Given the description of an element on the screen output the (x, y) to click on. 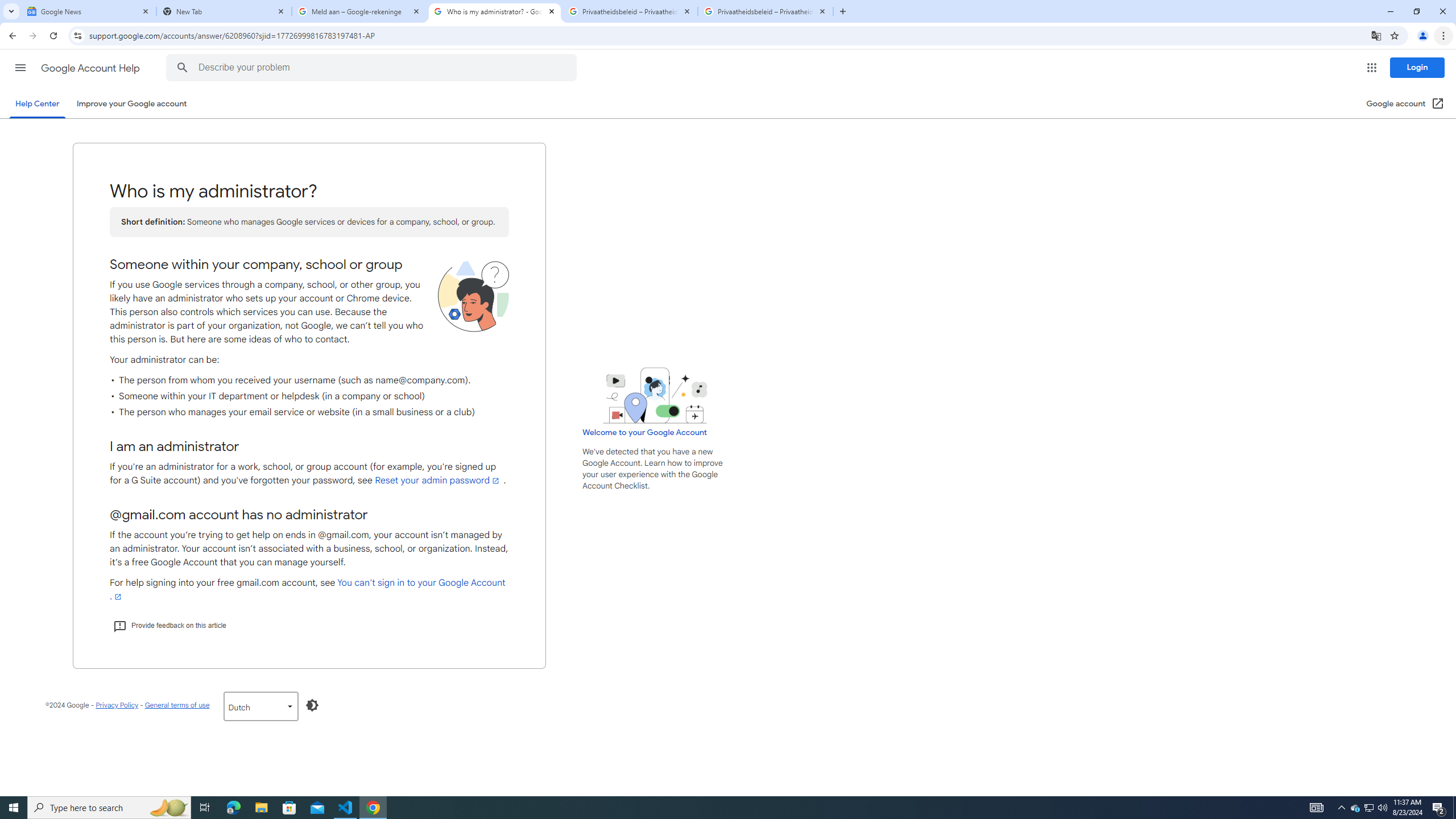
General terms of use (176, 705)
Welcome to your Google Account (644, 432)
Search the Help Center (181, 67)
Learning Center home page image (655, 395)
Who is my administrator? - Google Account Help (494, 11)
Provide feedback on this article (169, 625)
You can't sign in to your Google Account . (307, 589)
Google Account (Opens in new window) (1404, 103)
